Given the description of an element on the screen output the (x, y) to click on. 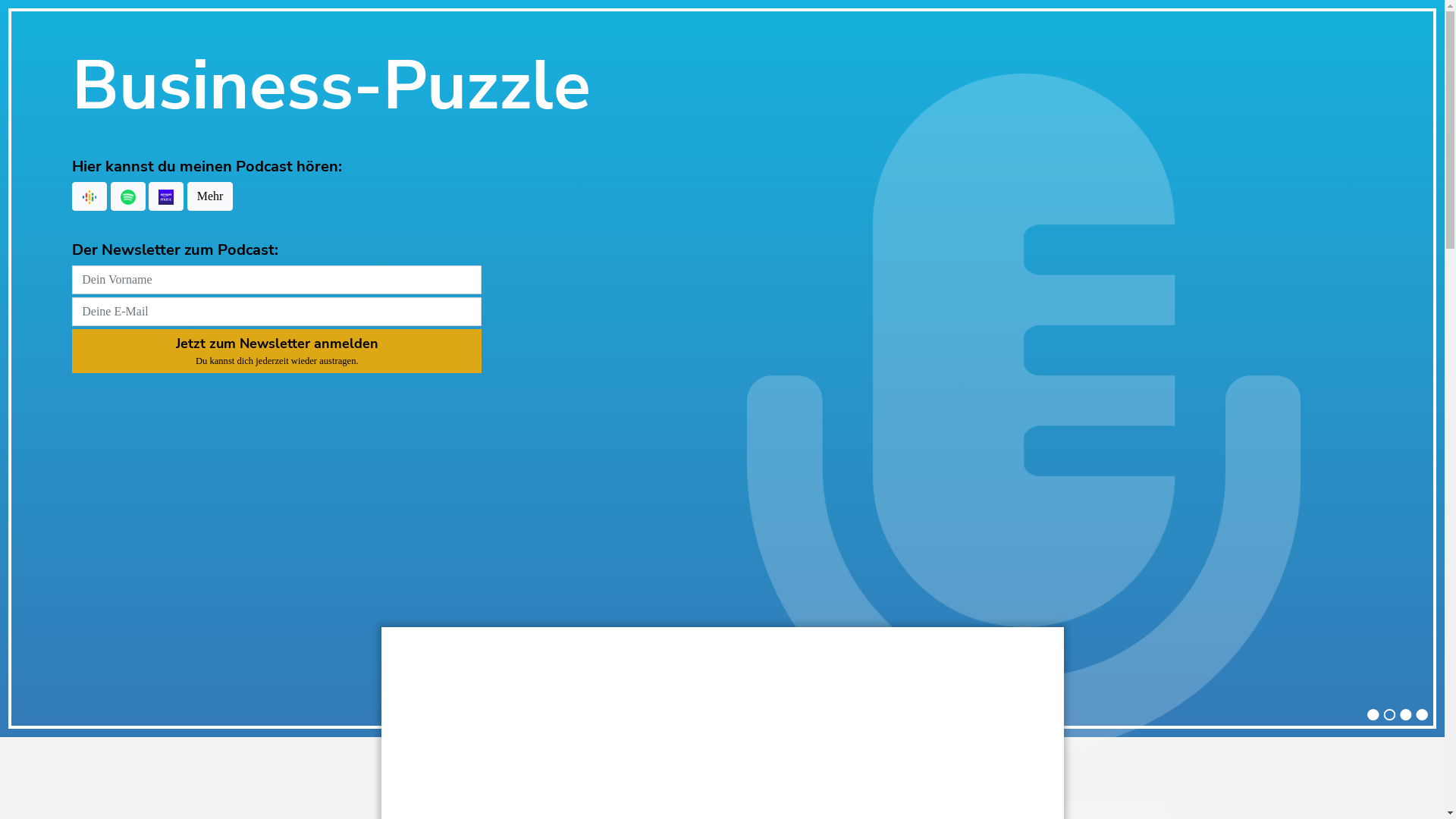
Mehr Element type: text (210, 196)
